Given the description of an element on the screen output the (x, y) to click on. 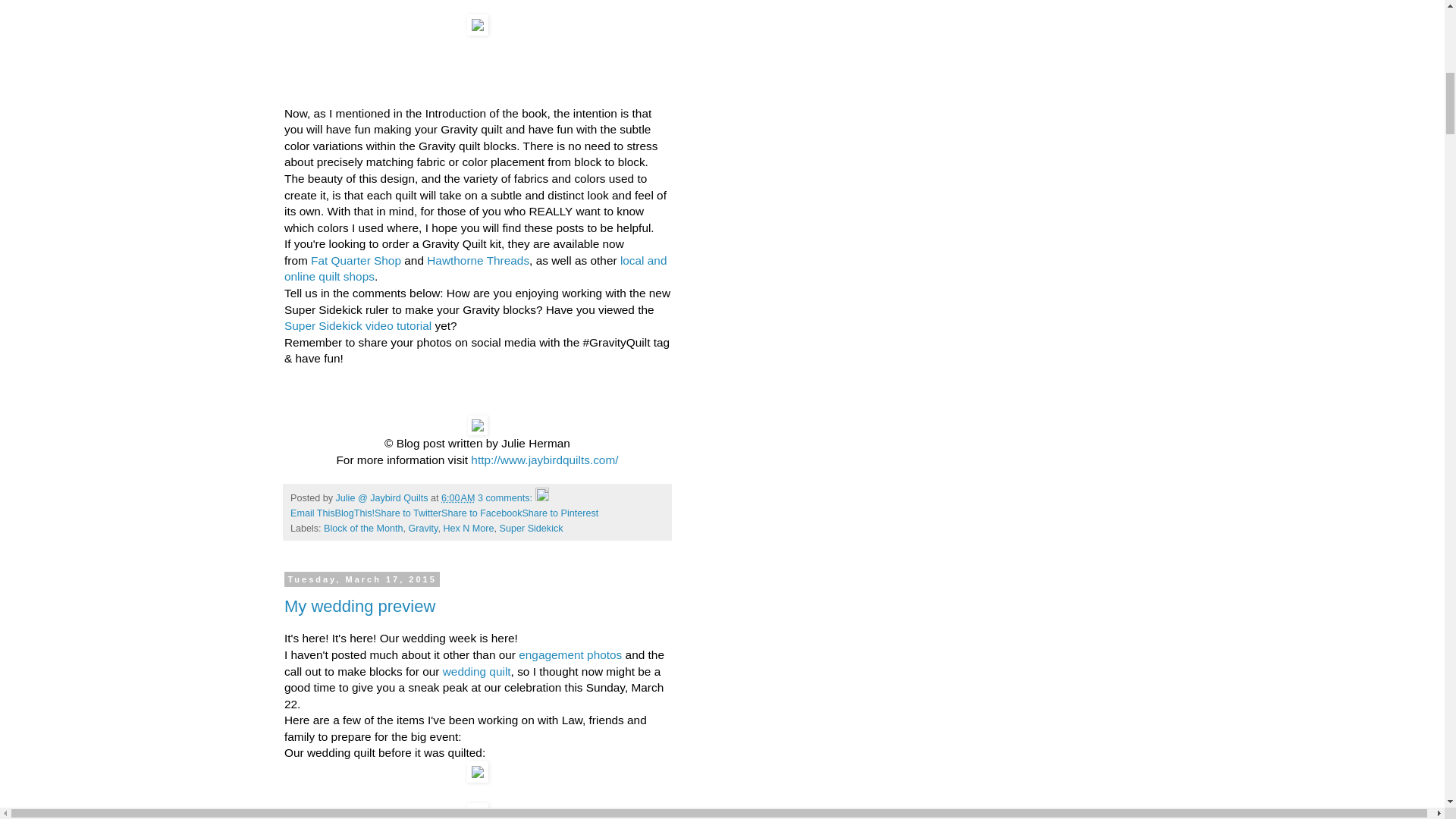
Hawthorne Threads (477, 259)
permanent link (457, 498)
Email This (311, 512)
Edit Post (541, 498)
Share to Twitter (407, 512)
local and online quilt shops (474, 268)
Share to Twitter (407, 512)
Share to Pinterest (559, 512)
Share to Facebook (481, 512)
BlogThis! (354, 512)
BlogThis! (354, 512)
Gravity (422, 528)
Block of the Month (363, 528)
Hex N More (467, 528)
